Given the description of an element on the screen output the (x, y) to click on. 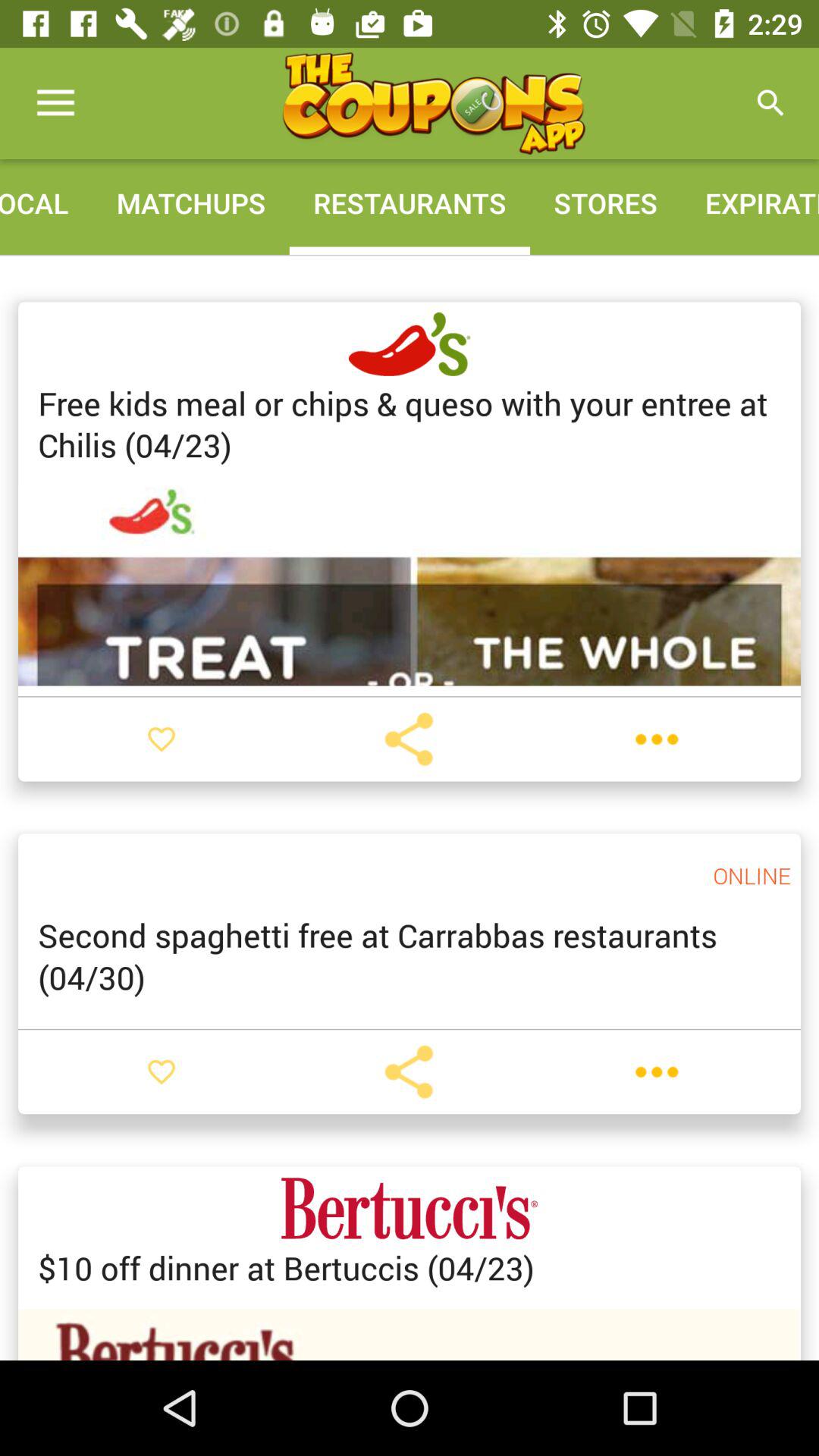
open the icon next to restaurants (605, 202)
